Given the description of an element on the screen output the (x, y) to click on. 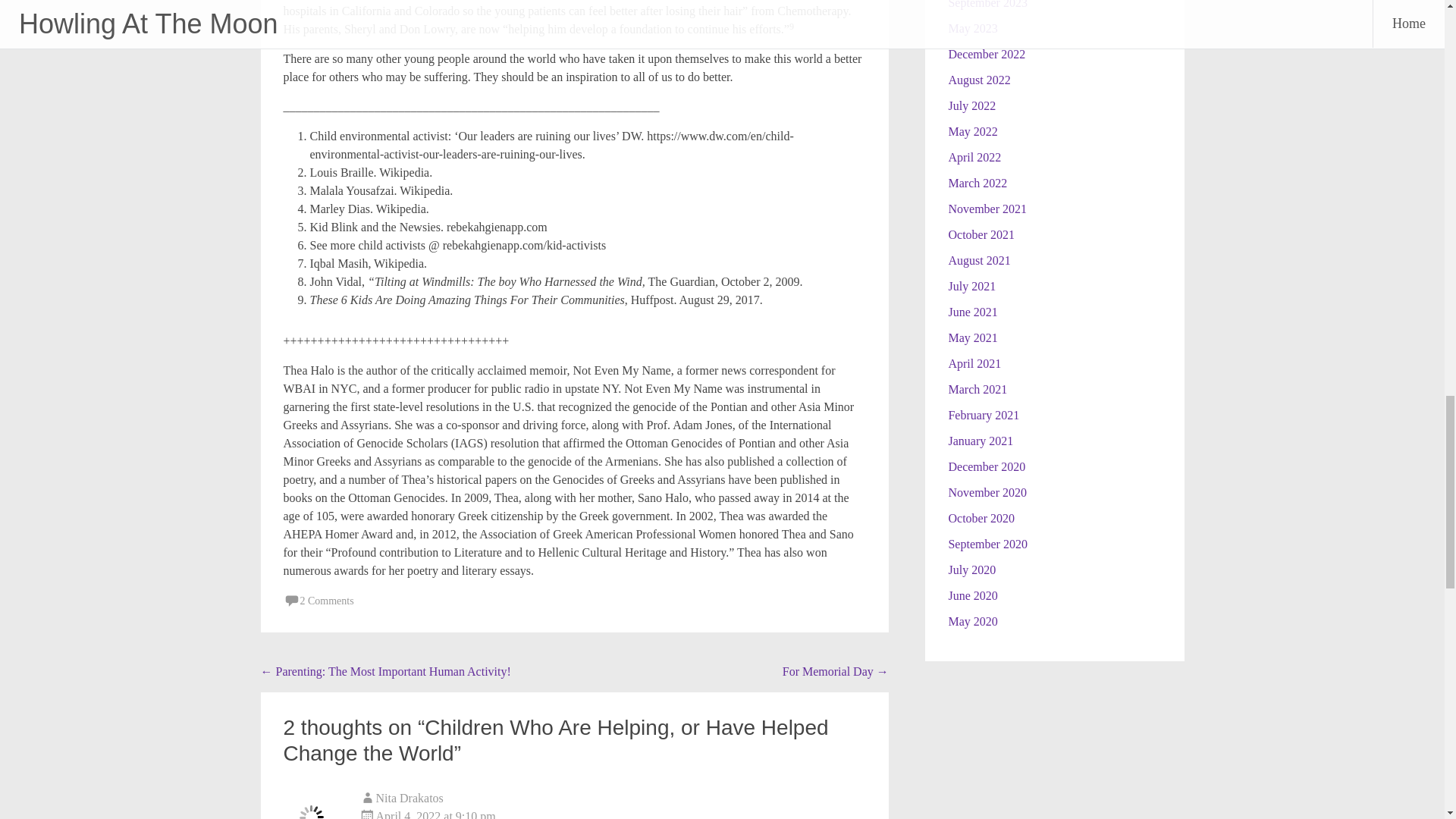
Nita Drakatos (409, 797)
2 Comments (326, 600)
